Given the description of an element on the screen output the (x, y) to click on. 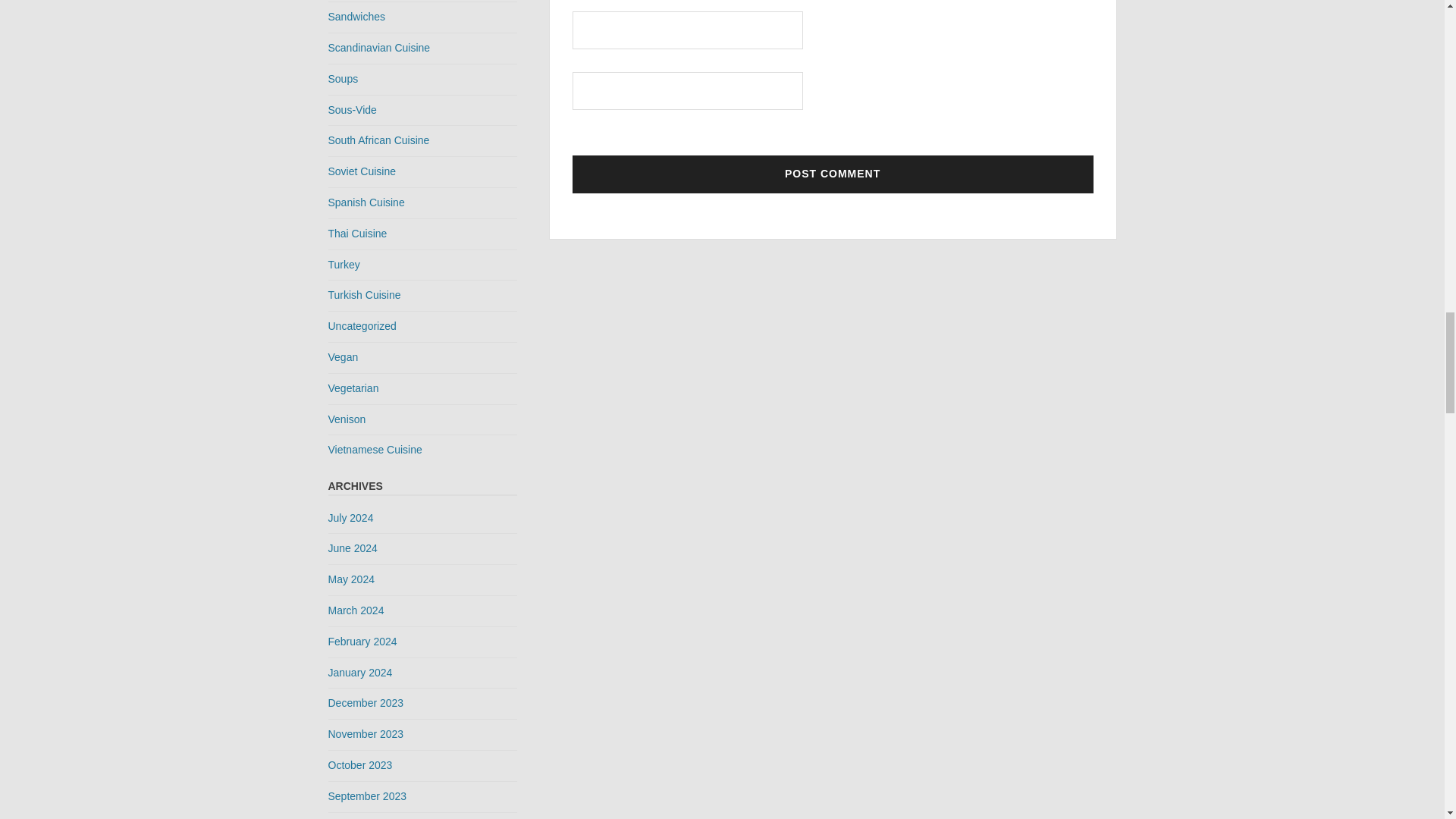
Post Comment (832, 174)
